Given the description of an element on the screen output the (x, y) to click on. 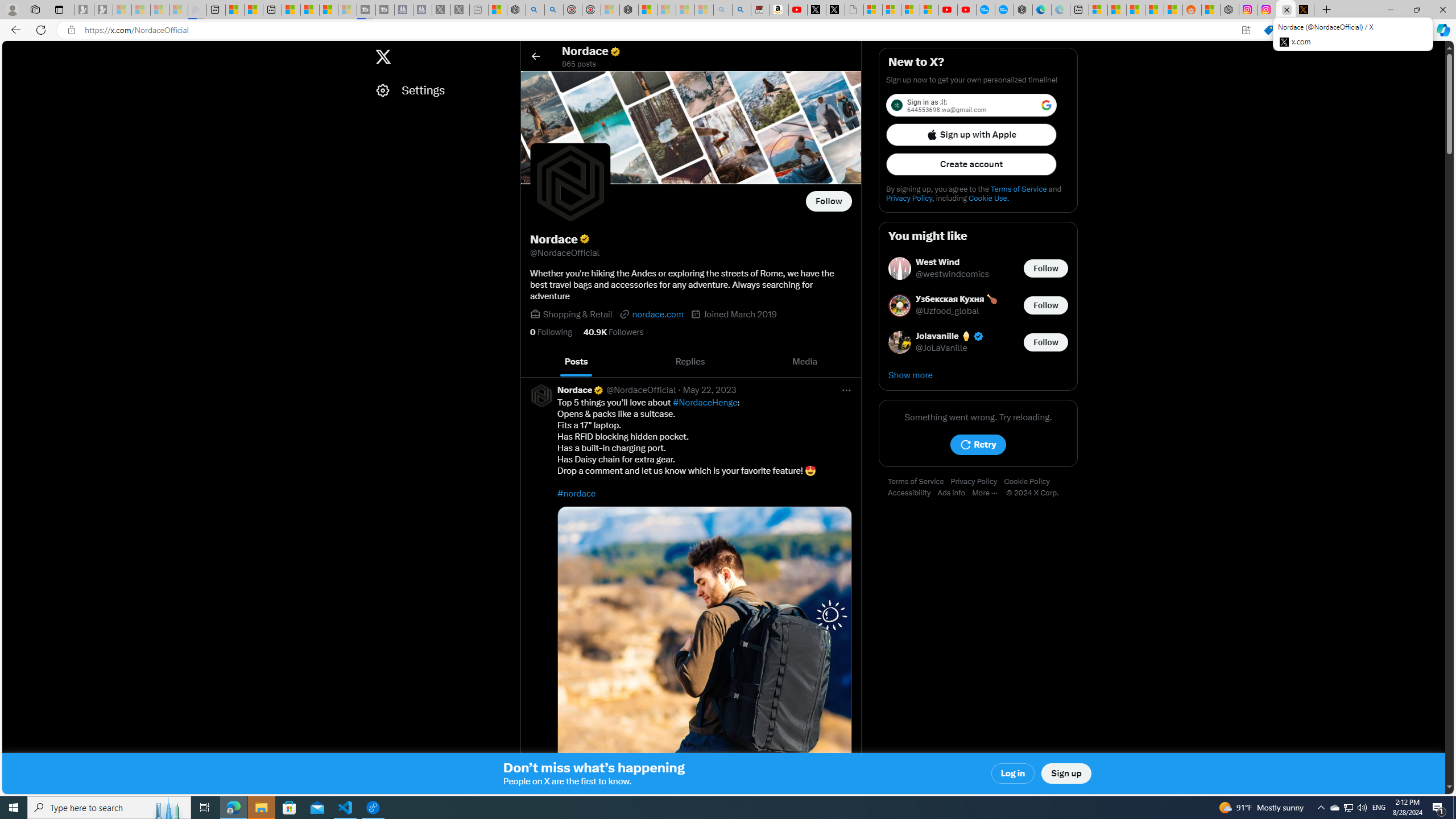
Nordace - Nordace Siena Is Not An Ordinary Backpack (628, 9)
Day 1: Arriving in Yemen (surreal to be here) - YouTube (797, 9)
Square profile picture (541, 395)
poe ++ standard - Search (553, 9)
Microsoft account | Microsoft Account Privacy Settings (1098, 9)
Follow @Uzfood_global (1045, 304)
